Given the description of an element on the screen output the (x, y) to click on. 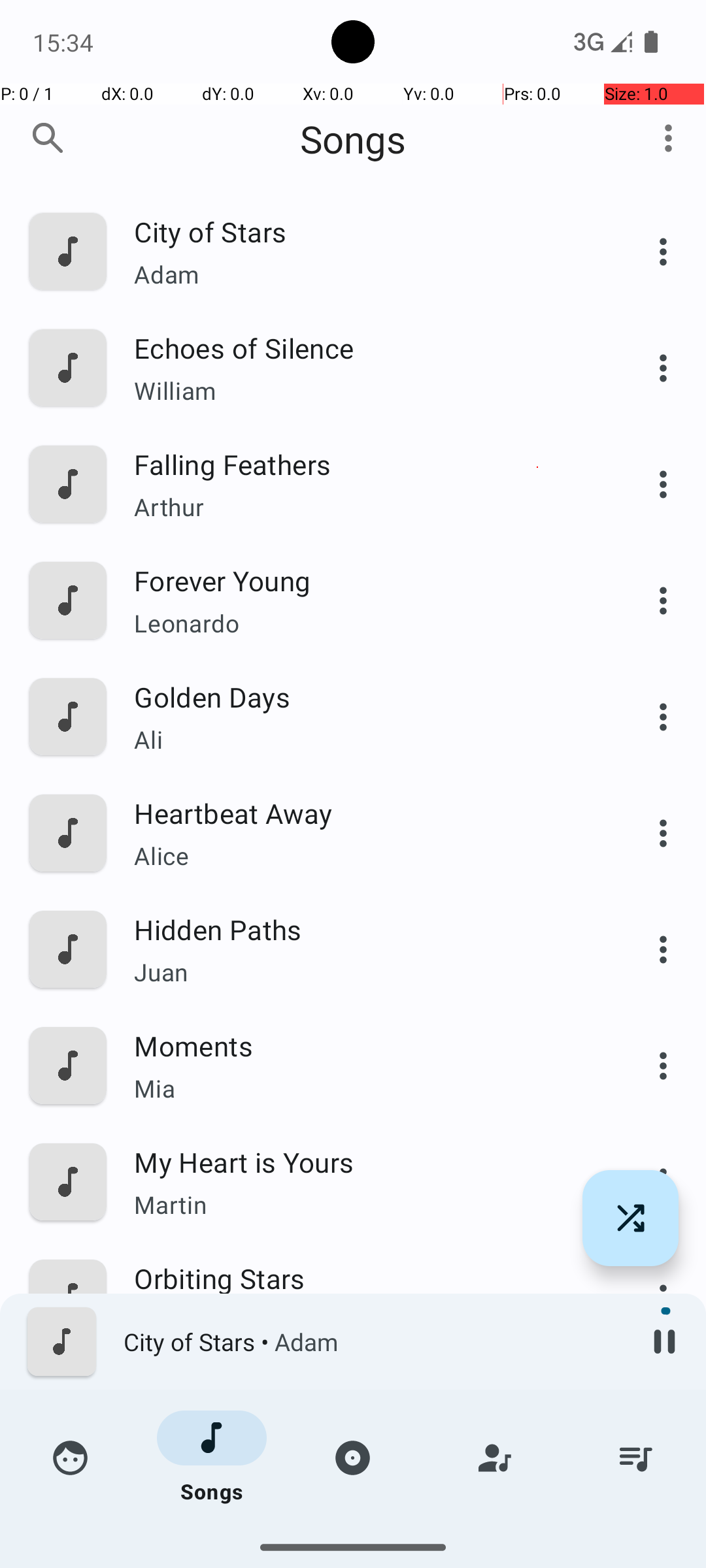
City of Stars • Adam Element type: android.widget.TextView (372, 1341)
City of Stars Element type: android.widget.TextView (363, 231)
Adam Element type: android.widget.TextView (363, 273)
Echoes of Silence Element type: android.widget.TextView (363, 347)
William Element type: android.widget.TextView (363, 390)
Falling Feathers Element type: android.widget.TextView (363, 463)
Arthur Element type: android.widget.TextView (363, 506)
Forever Young Element type: android.widget.TextView (363, 580)
Leonardo Element type: android.widget.TextView (363, 622)
Golden Days Element type: android.widget.TextView (363, 696)
Ali Element type: android.widget.TextView (363, 738)
Heartbeat Away Element type: android.widget.TextView (363, 812)
Alice Element type: android.widget.TextView (363, 855)
Hidden Paths Element type: android.widget.TextView (363, 928)
Juan Element type: android.widget.TextView (363, 971)
Moments Element type: android.widget.TextView (363, 1045)
Mia Element type: android.widget.TextView (363, 1087)
My Heart is Yours Element type: android.widget.TextView (363, 1161)
Martin Element type: android.widget.TextView (363, 1204)
Orbiting Stars Element type: android.widget.TextView (363, 1277)
Reflections Element type: android.widget.TextView (363, 1394)
Jose Element type: android.widget.TextView (363, 1436)
Serenity Now Element type: android.widget.TextView (363, 1510)
Oscar Element type: android.widget.TextView (363, 1538)
